Given the description of an element on the screen output the (x, y) to click on. 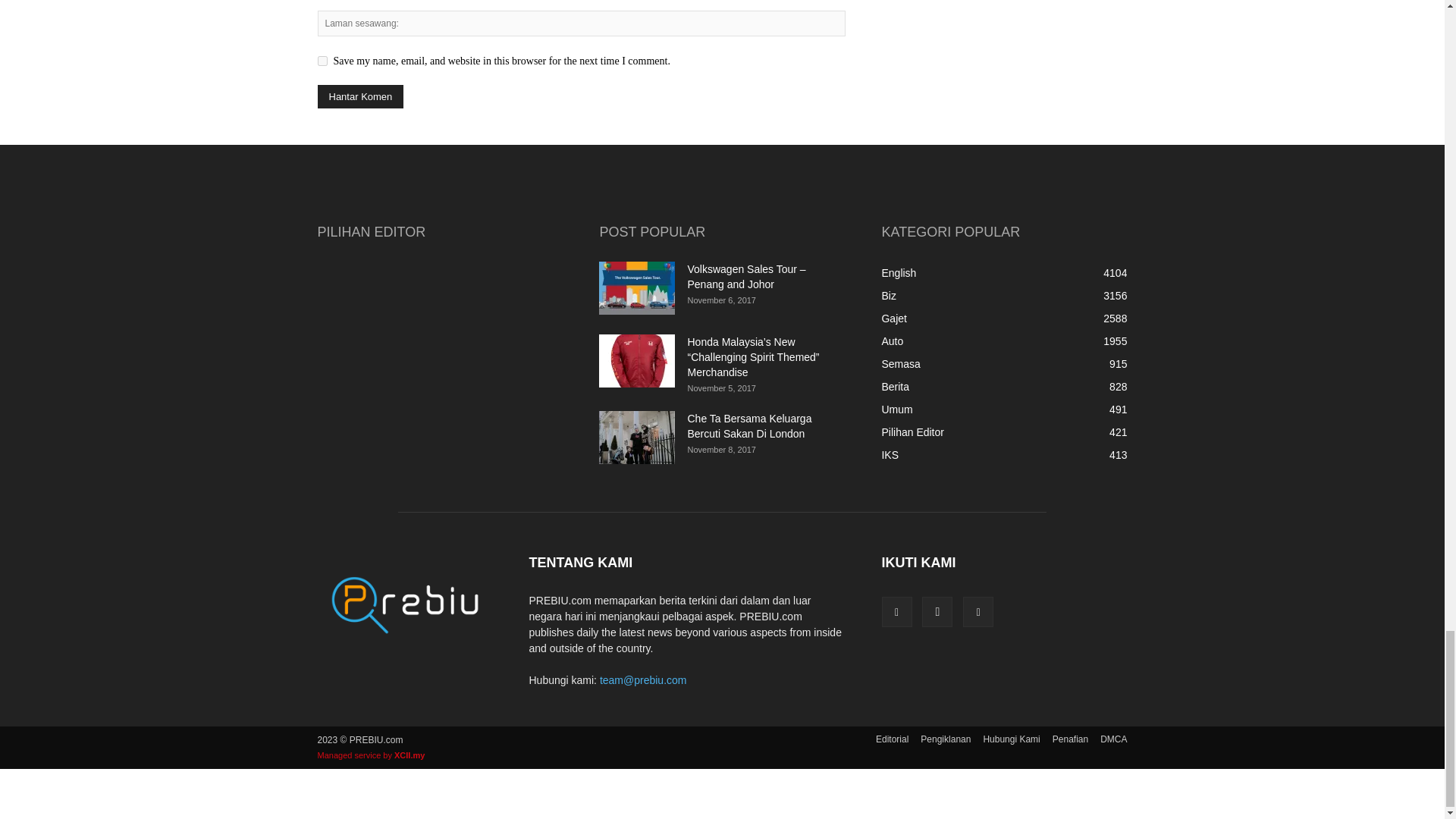
yes (321, 61)
Hantar Komen (360, 96)
